Given the description of an element on the screen output the (x, y) to click on. 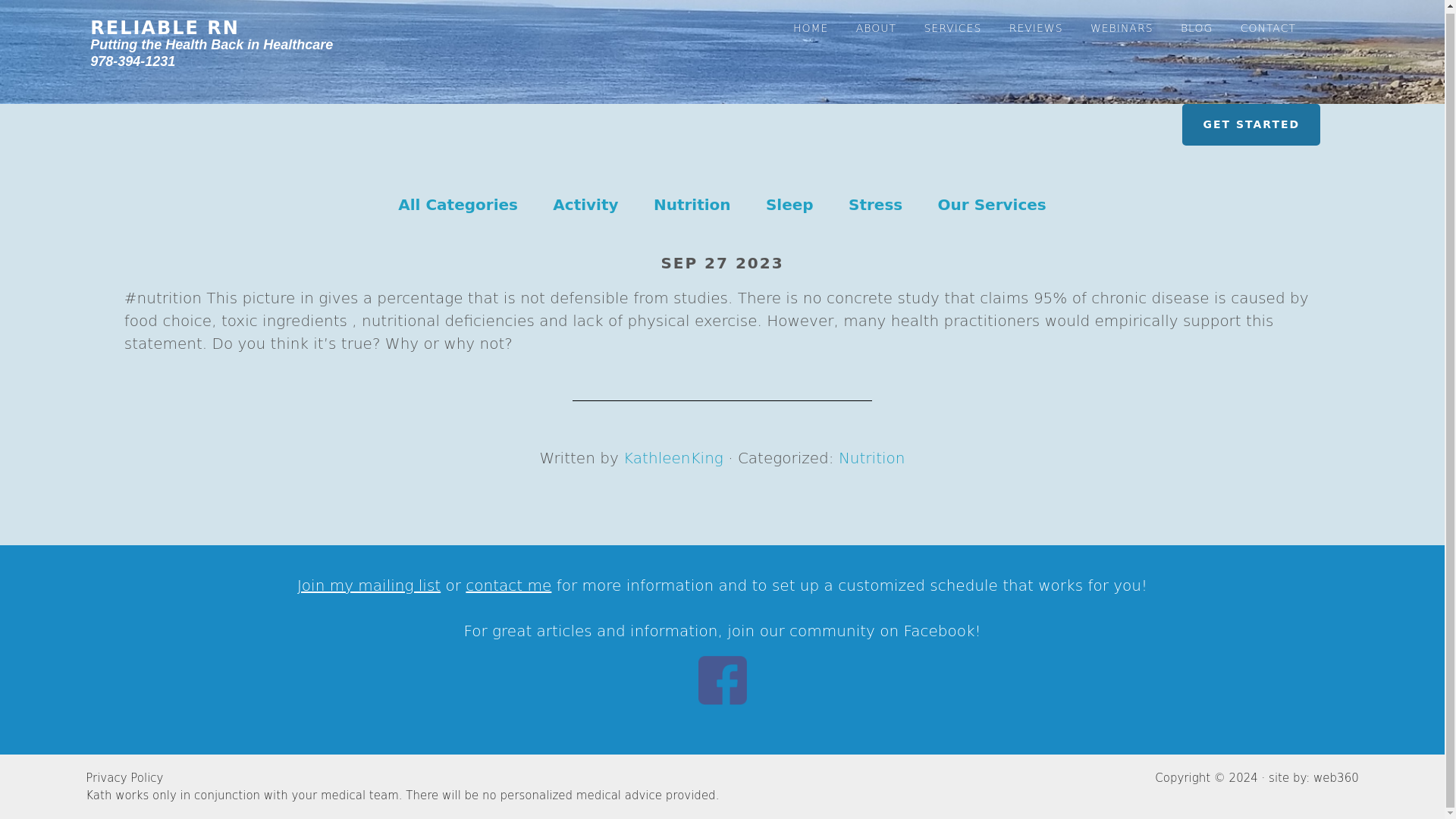
978-394-1231 (132, 58)
Activity (585, 204)
Nutrition (871, 457)
HOME (810, 18)
All Categories (457, 204)
CONTACT (1267, 18)
Nutrition (691, 204)
SERVICES (952, 18)
contact me (508, 585)
Homepage (211, 42)
